Given the description of an element on the screen output the (x, y) to click on. 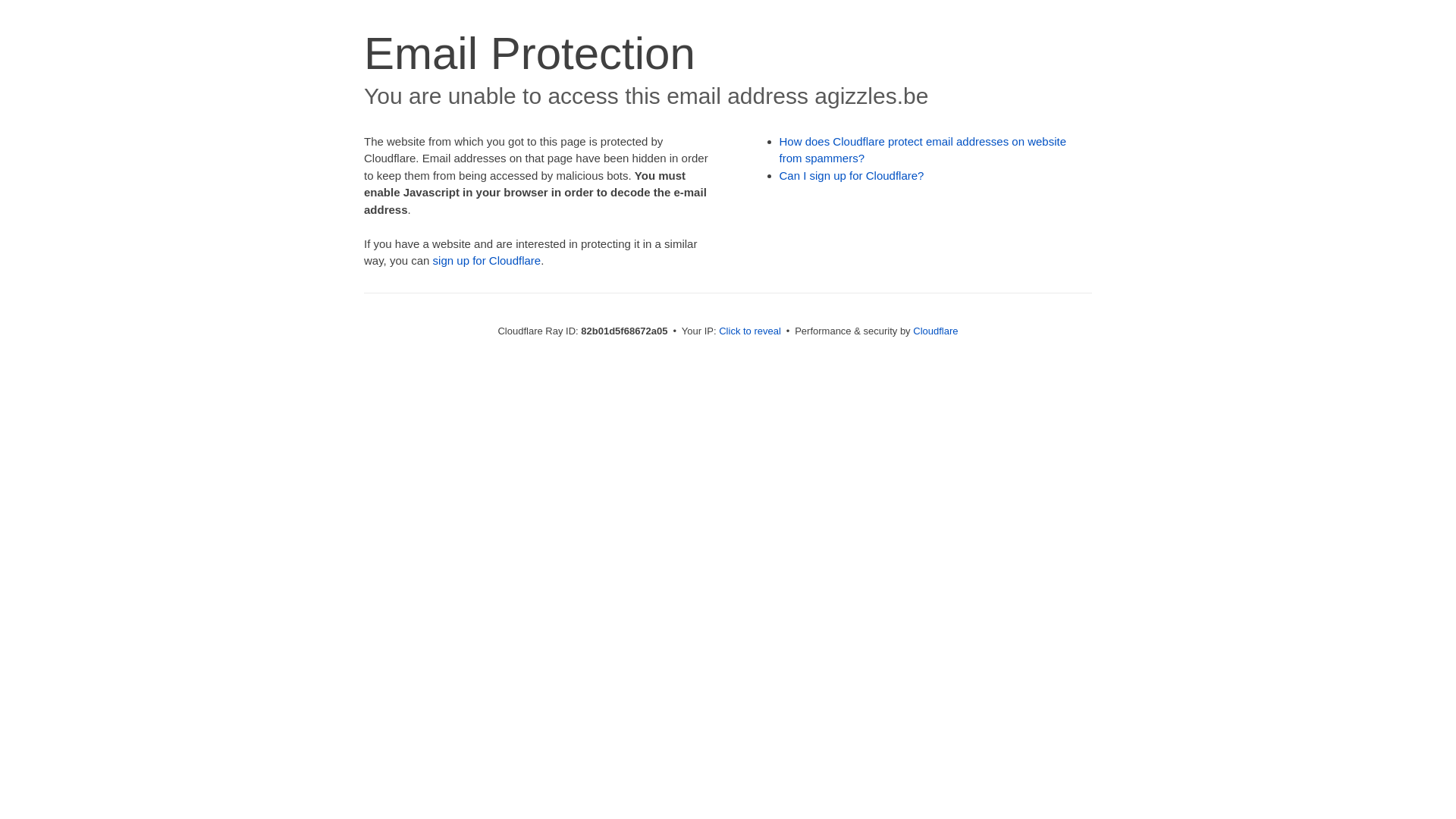
Can I sign up for Cloudflare? Element type: text (851, 175)
Cloudflare Element type: text (935, 330)
sign up for Cloudflare Element type: text (487, 260)
Click to reveal Element type: text (749, 330)
